Given the description of an element on the screen output the (x, y) to click on. 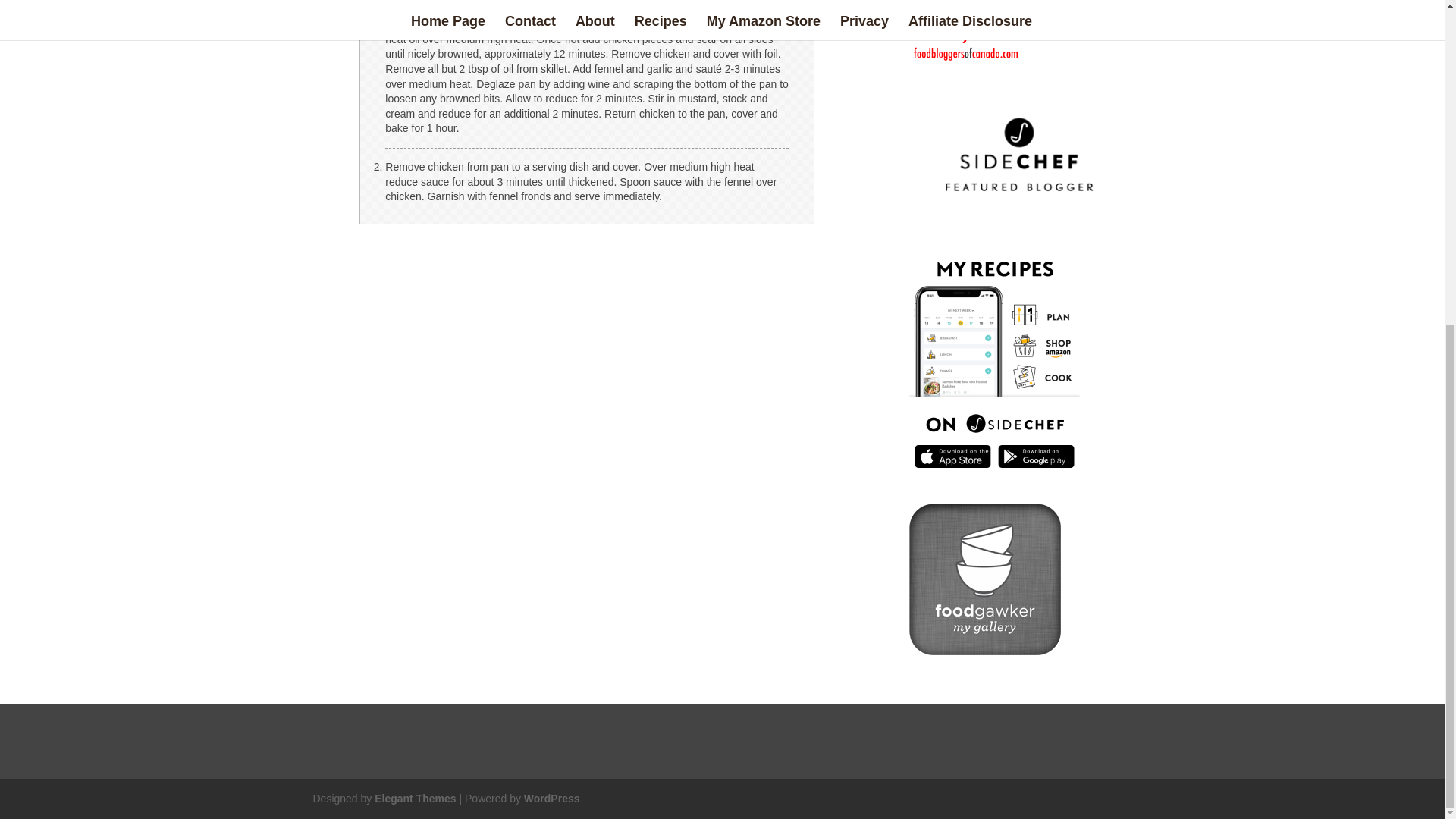
Premium WordPress Themes (414, 798)
